Given the description of an element on the screen output the (x, y) to click on. 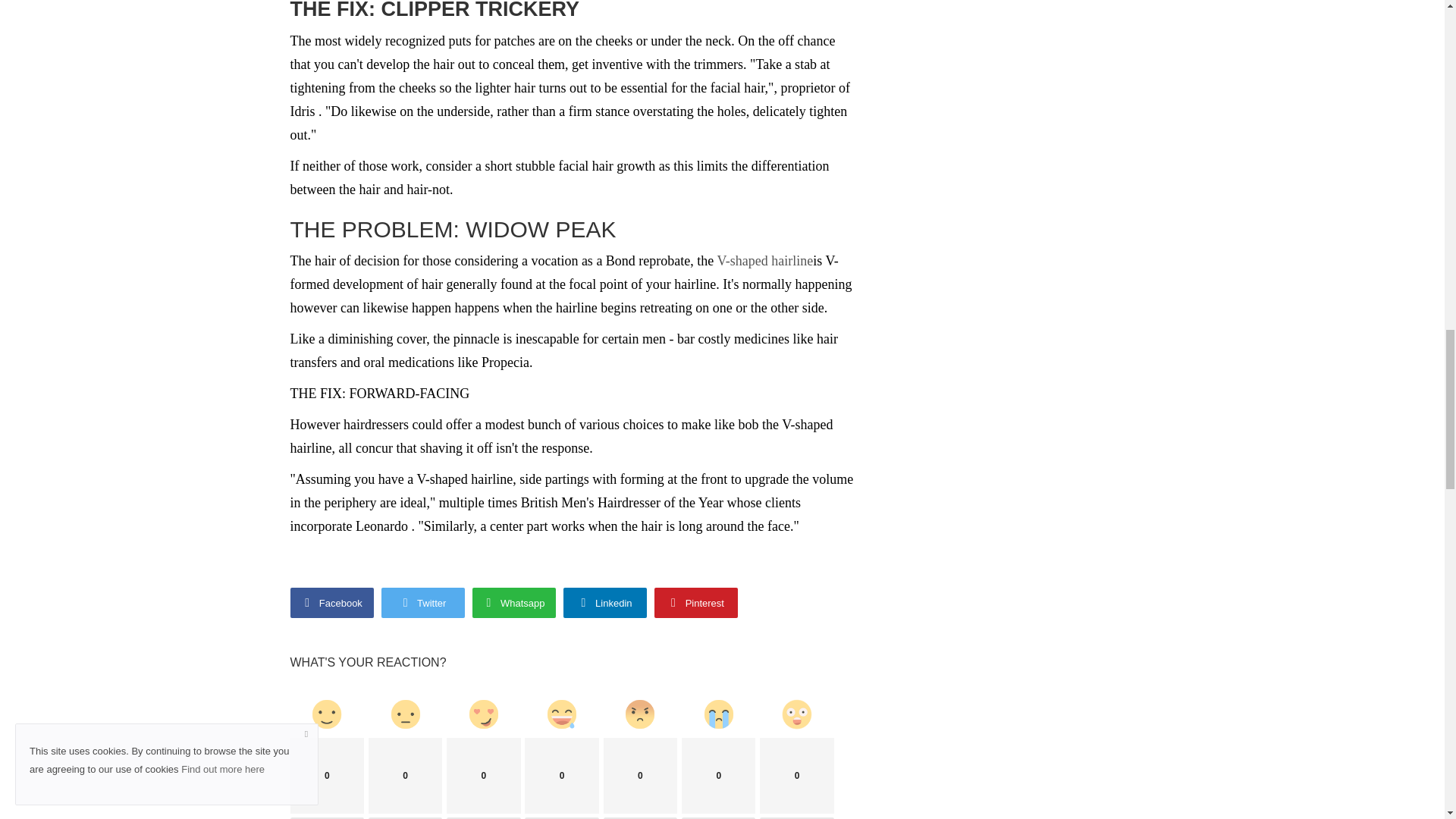
V-shaped hairline (765, 260)
Facebook (330, 603)
Twitter (422, 603)
Whatsapp (512, 603)
Linkedin (604, 603)
